Given the description of an element on the screen output the (x, y) to click on. 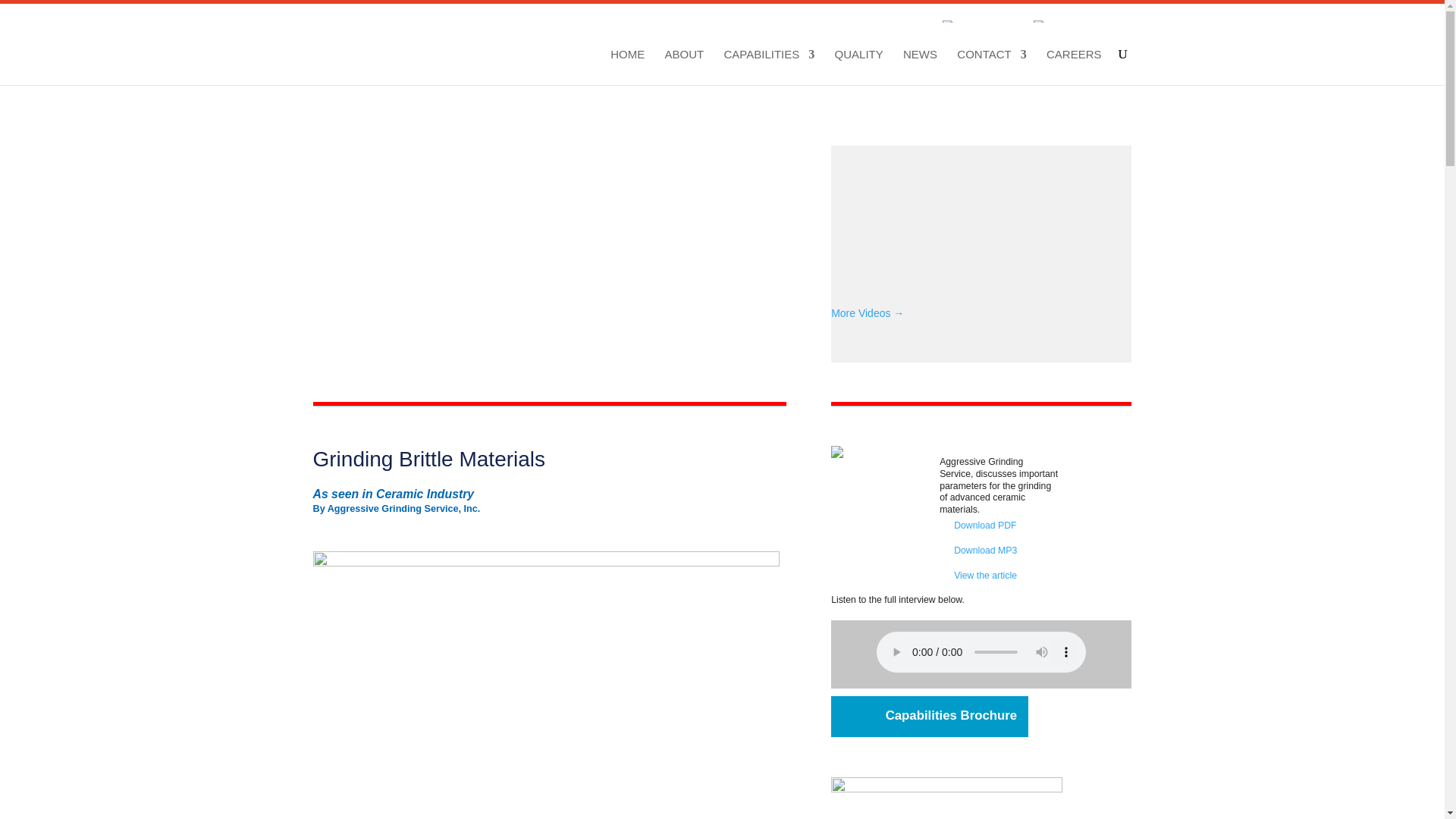
Download MP3 (1000, 551)
NEWS (919, 67)
CAPABILITIES (768, 67)
Capabilities Brochure (929, 716)
Download PDF (1000, 526)
CONTACT (991, 67)
View the article (1000, 576)
CAREERS (1074, 67)
HOME (627, 67)
ABOUT (684, 67)
QUALITY (858, 67)
